Given the description of an element on the screen output the (x, y) to click on. 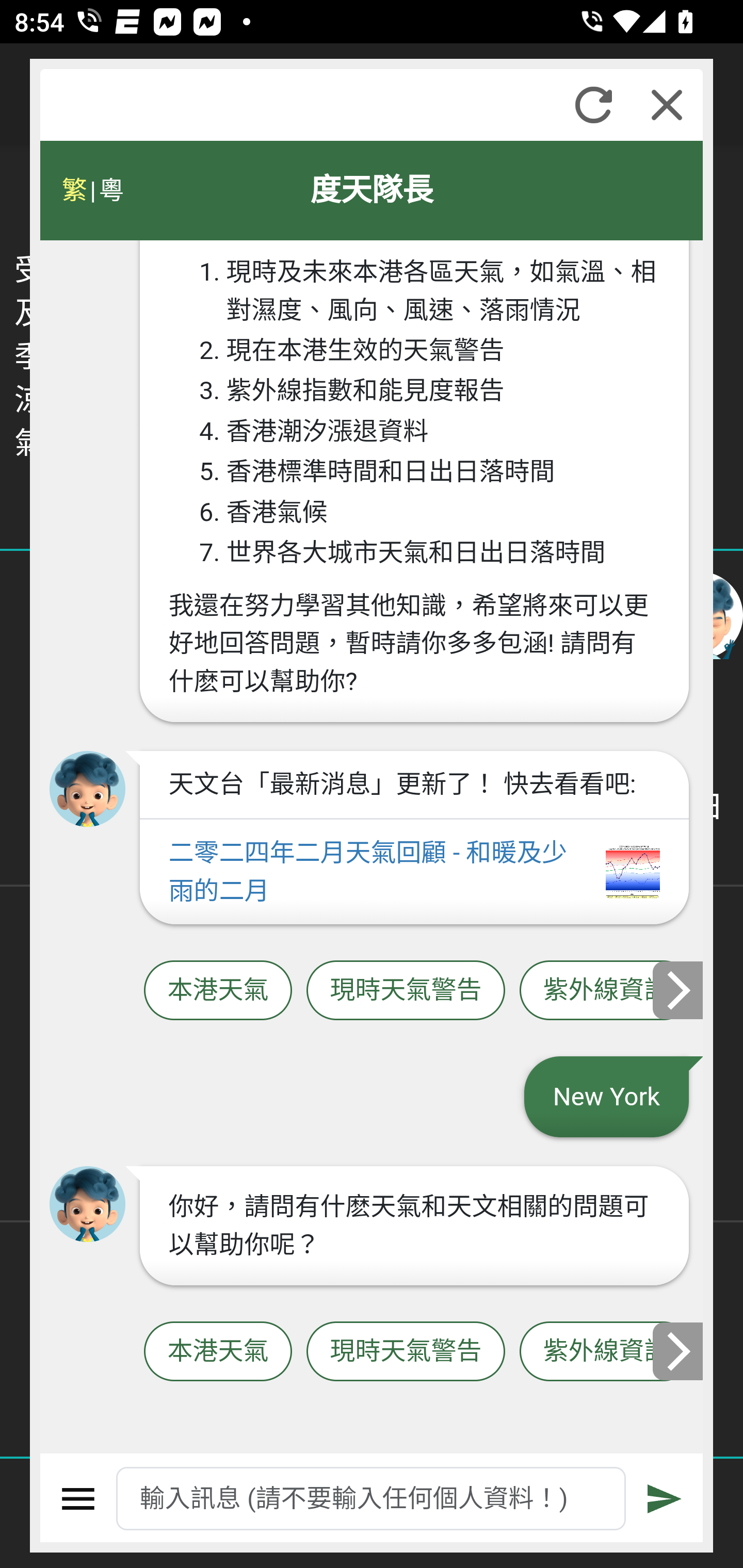
重新整理 (593, 104)
關閉 (666, 104)
繁 (73, 190)
粵 (110, 190)
二零二四年二月天氣回顧 - 和暖及少雨的二月 (413, 872)
本港天氣 (217, 990)
現時天氣警告 (405, 990)
紫外線資訊 (605, 990)
下一張 (678, 989)
本港天氣 (217, 1351)
現時天氣警告 (405, 1351)
紫外線資訊 (605, 1351)
下一張 (678, 1351)
選單 (78, 1498)
遞交 (665, 1498)
